Given the description of an element on the screen output the (x, y) to click on. 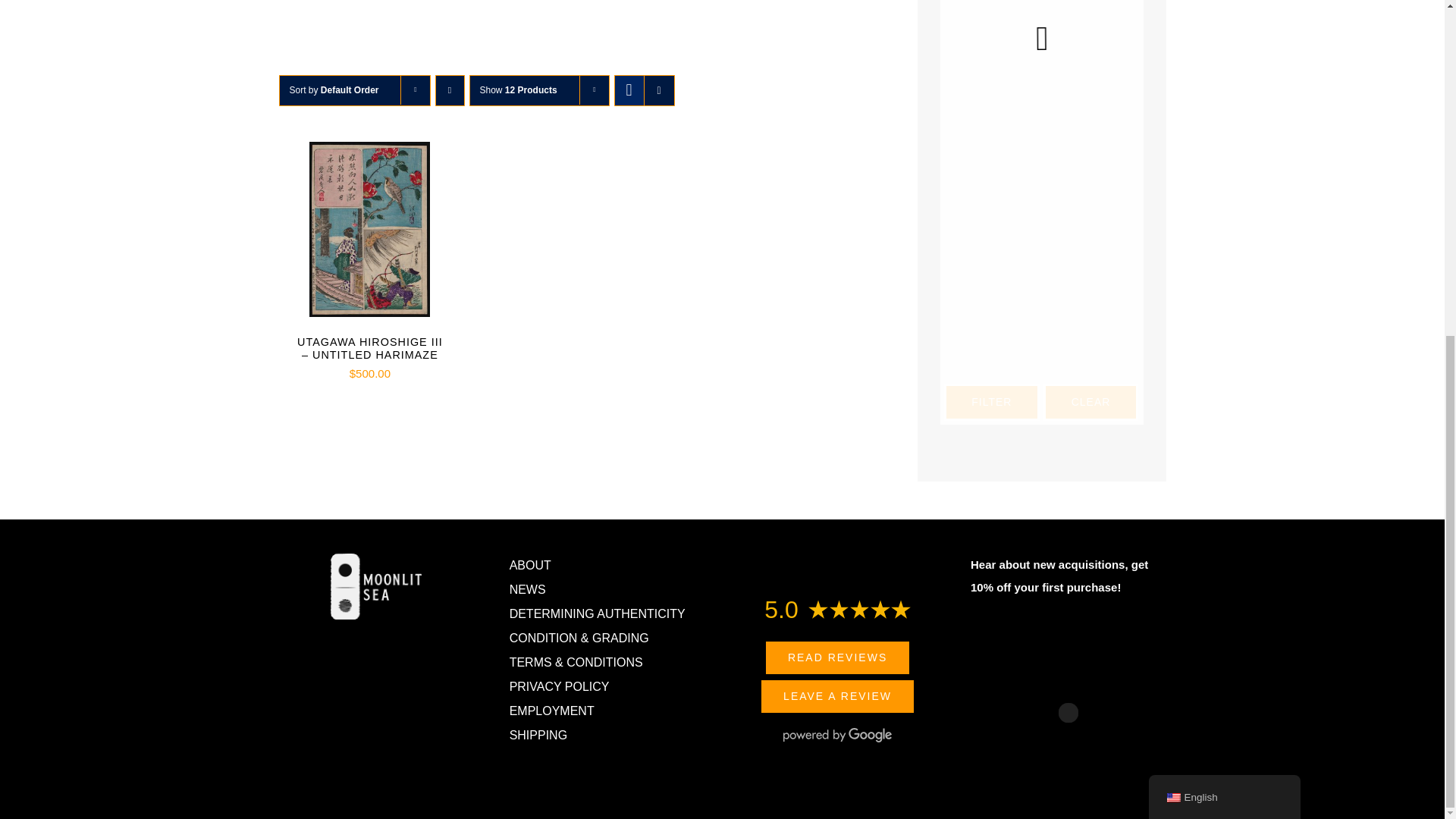
logo-horizontal-wb-e1596281565448.png (376, 586)
Powered by Google (837, 735)
English (1172, 234)
